Given the description of an element on the screen output the (x, y) to click on. 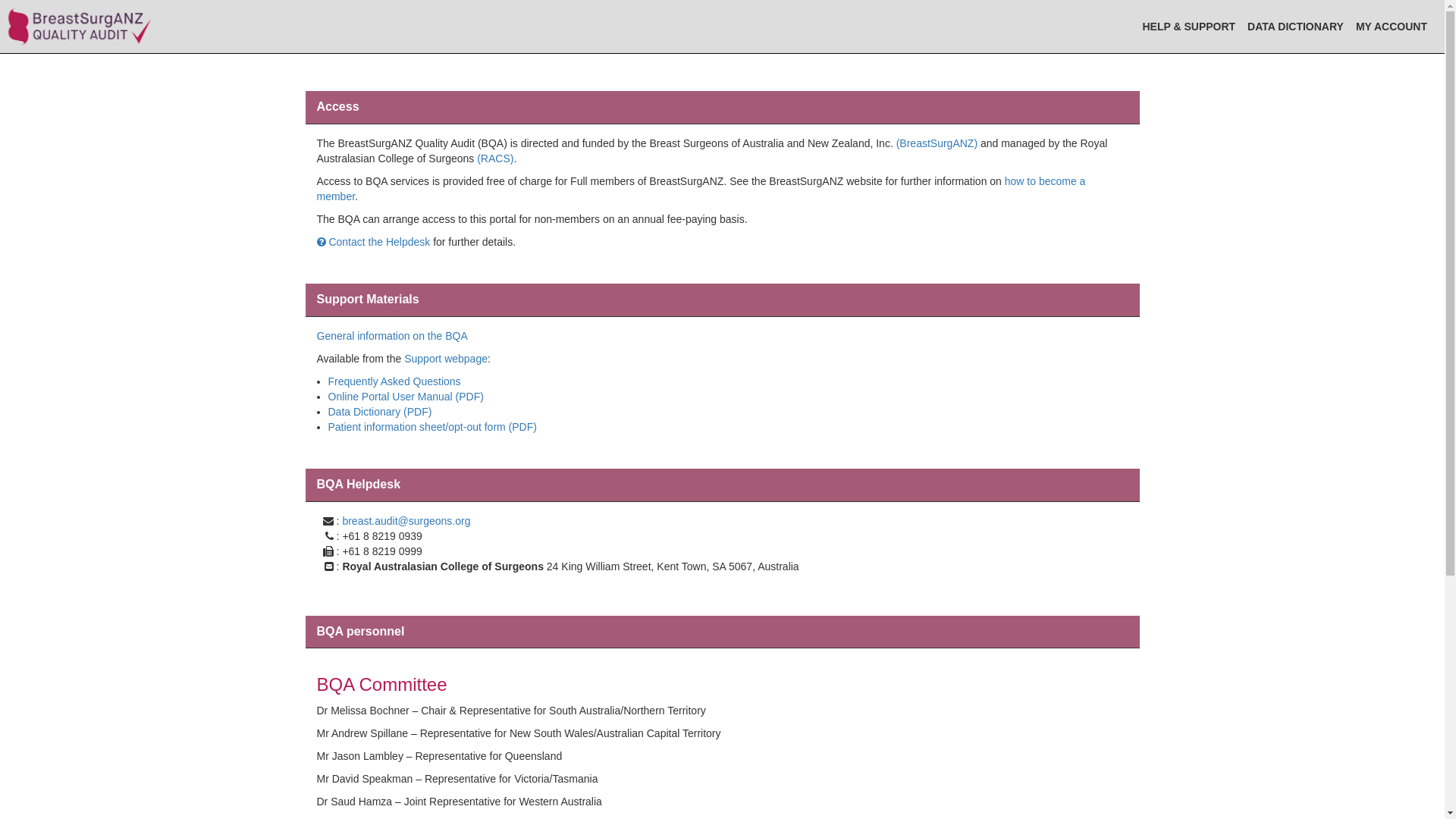
MY ACCOUNT Element type: text (1391, 26)
Support webpage Element type: text (445, 358)
Data Dictionary (PDF) Element type: text (379, 411)
(RACS) Element type: text (494, 158)
(BreastSurgANZ) Element type: text (936, 143)
Contact the Helpdesk Element type: text (373, 241)
breast.audit@surgeons.org Element type: text (406, 520)
Patient information sheet/opt-out form (PDF) Element type: text (431, 426)
General information on the BQA Element type: text (391, 335)
how to become a member Element type: text (700, 188)
Online Portal User Manual (PDF) Element type: text (405, 396)
HELP & SUPPORT Element type: text (1188, 26)
Frequently Asked Questions Element type: text (393, 381)
DATA DICTIONARY Element type: text (1295, 26)
